Given the description of an element on the screen output the (x, y) to click on. 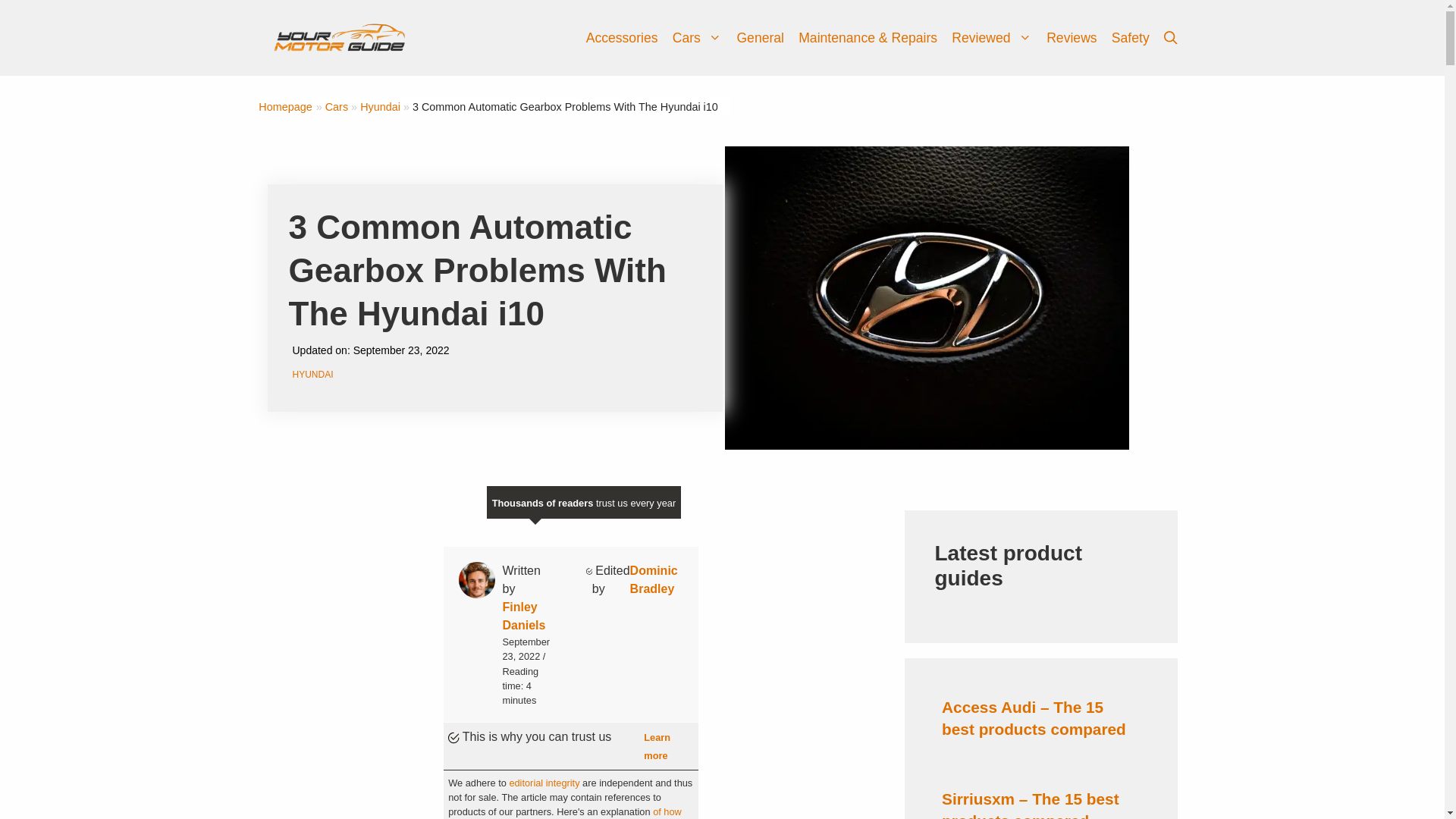
Hyundai (379, 106)
Author-Name (654, 579)
General (760, 37)
Reviewed (999, 37)
Author-Name (523, 615)
Accessories (622, 37)
Cars (704, 37)
Category Name (335, 106)
3 Common Automatic Gearbox Problems With The Hyundai i10 (564, 106)
